Given the description of an element on the screen output the (x, y) to click on. 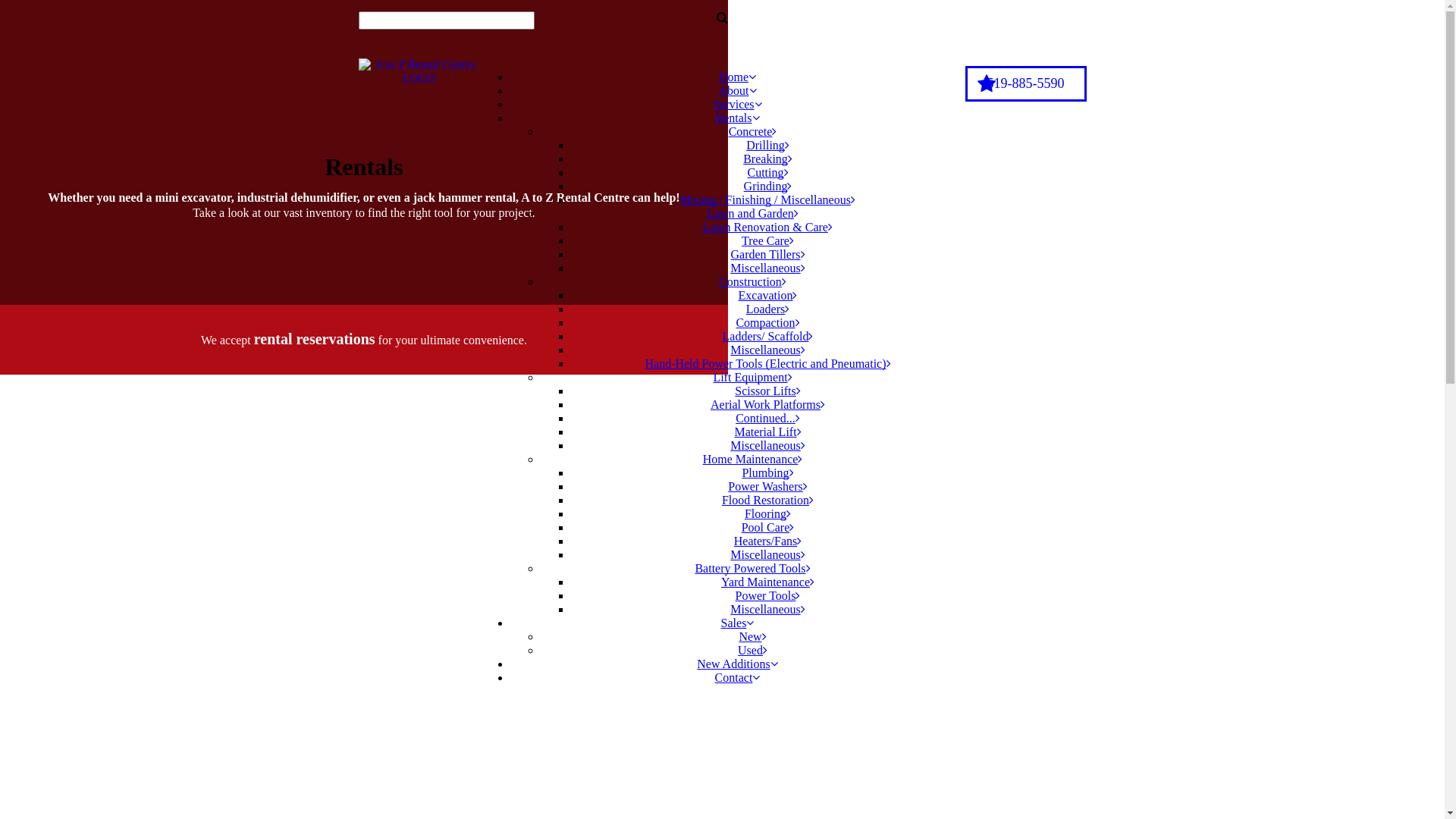
519-885-5590 Element type: text (1024, 83)
Concrete Element type: text (752, 131)
Services Element type: text (736, 103)
Grinding Element type: text (767, 185)
Power Washers Element type: text (767, 486)
Miscellaneous Element type: text (767, 445)
Drilling Element type: text (767, 144)
Lift Equipment Element type: text (751, 376)
Ladders/ Scaffold Element type: text (767, 335)
About Element type: text (737, 90)
Flood Restoration Element type: text (767, 499)
Rentals Element type: text (737, 117)
Hand-Held Power Tools (Electric and Pneumatic) Element type: text (767, 363)
Miscellaneous Element type: text (767, 267)
Miscellaneous Element type: text (767, 608)
Garden Tillers Element type: text (768, 253)
Home Maintenance Element type: text (752, 458)
Used Element type: text (752, 649)
Mixing / Finishing / Miscellaneous Element type: text (767, 199)
Plumbing Element type: text (767, 472)
Breaking Element type: text (767, 158)
Power Tools Element type: text (767, 595)
Scissor Lifts Element type: text (767, 390)
Cutting Element type: text (766, 172)
Tree Care Element type: text (767, 240)
Excavation Element type: text (767, 294)
Contact Element type: text (737, 677)
Lawn Renovation & Care Element type: text (767, 226)
Material Lift Element type: text (767, 431)
Home Element type: text (737, 76)
Continued... Element type: text (767, 417)
New Element type: text (751, 636)
Yard Maintenance Element type: text (767, 581)
Battery Powered Tools Element type: text (751, 567)
Miscellaneous Element type: text (767, 349)
Loaders Element type: text (768, 308)
Sales Element type: text (737, 622)
Lawn and Garden Element type: text (752, 213)
Flooring Element type: text (767, 513)
Pool Care Element type: text (767, 526)
Compaction Element type: text (767, 322)
Construction Element type: text (752, 281)
Miscellaneous Element type: text (767, 554)
Heaters/Fans Element type: text (768, 540)
New Additions Element type: text (736, 663)
Aerial Work Platforms Element type: text (767, 404)
